Given the description of an element on the screen output the (x, y) to click on. 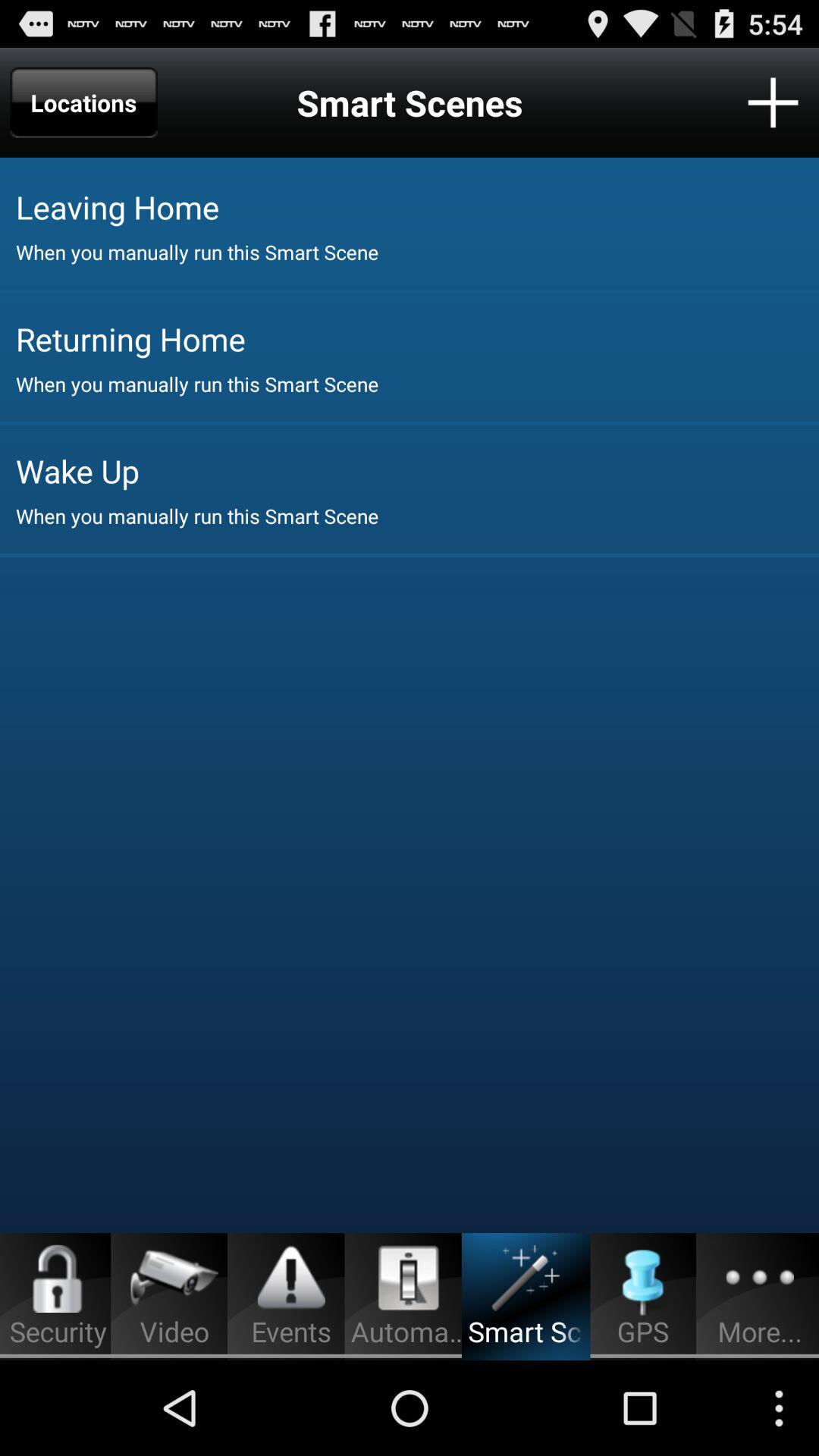
select item above when you manually app (417, 470)
